Given the description of an element on the screen output the (x, y) to click on. 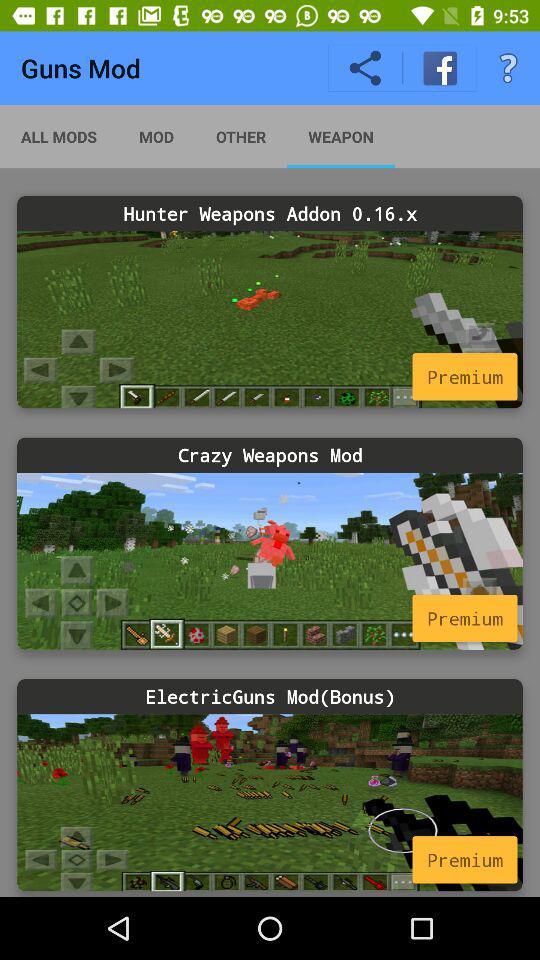
turn off hunter weapons addon icon (269, 213)
